Given the description of an element on the screen output the (x, y) to click on. 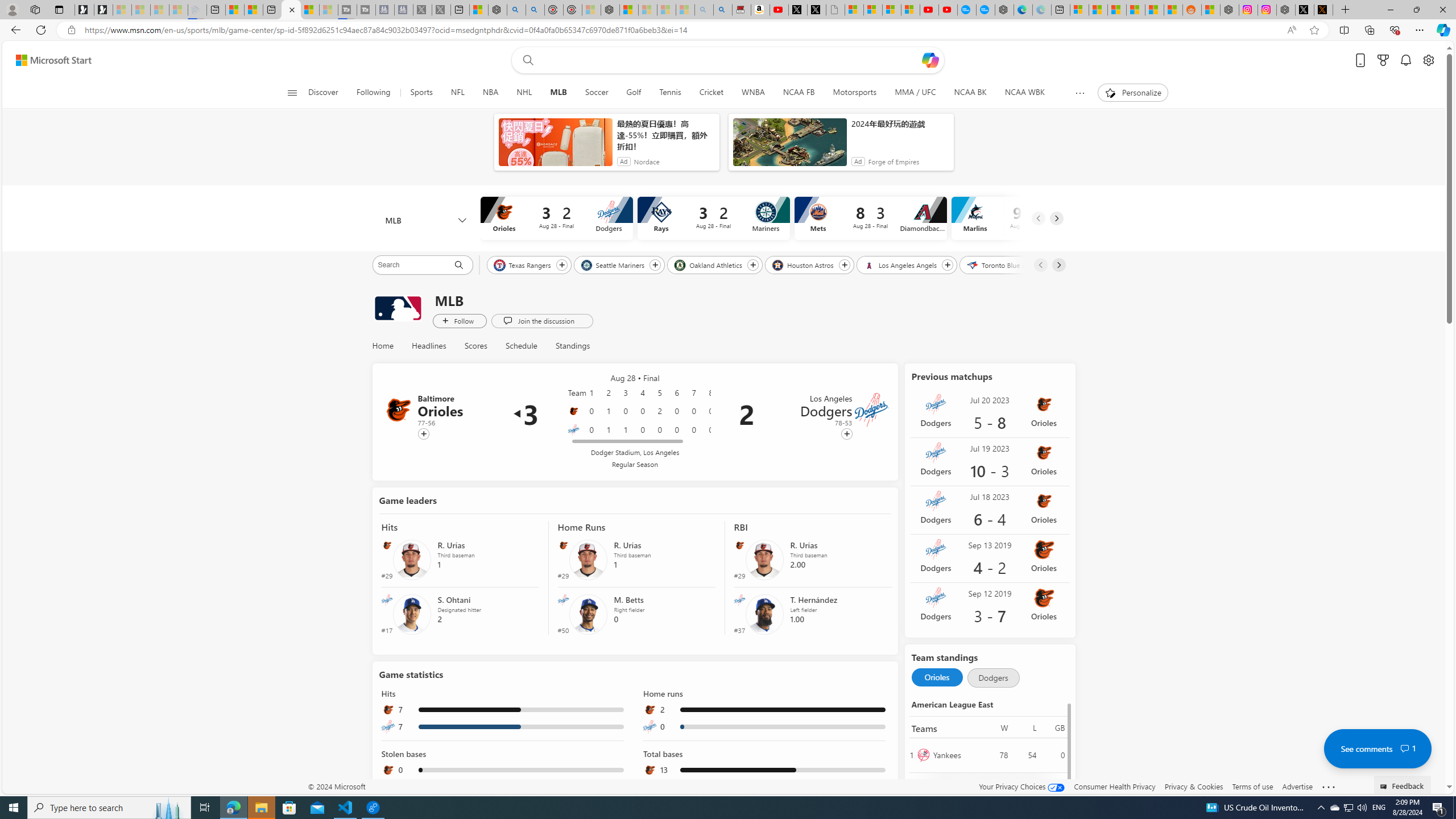
Day 1: Arriving in Yemen (surreal to be here) - YouTube (778, 9)
Schedule (521, 345)
Amazon Echo Dot PNG - Search Images (722, 9)
Open navigation menu (292, 92)
Rays 3 vs Mariners 2Final Date Aug 28 (713, 217)
Consumer Health Privacy (1115, 785)
Microsoft account | Microsoft Account Privacy Settings (1079, 9)
Schedule (521, 345)
Notifications (1405, 60)
